Given the description of an element on the screen output the (x, y) to click on. 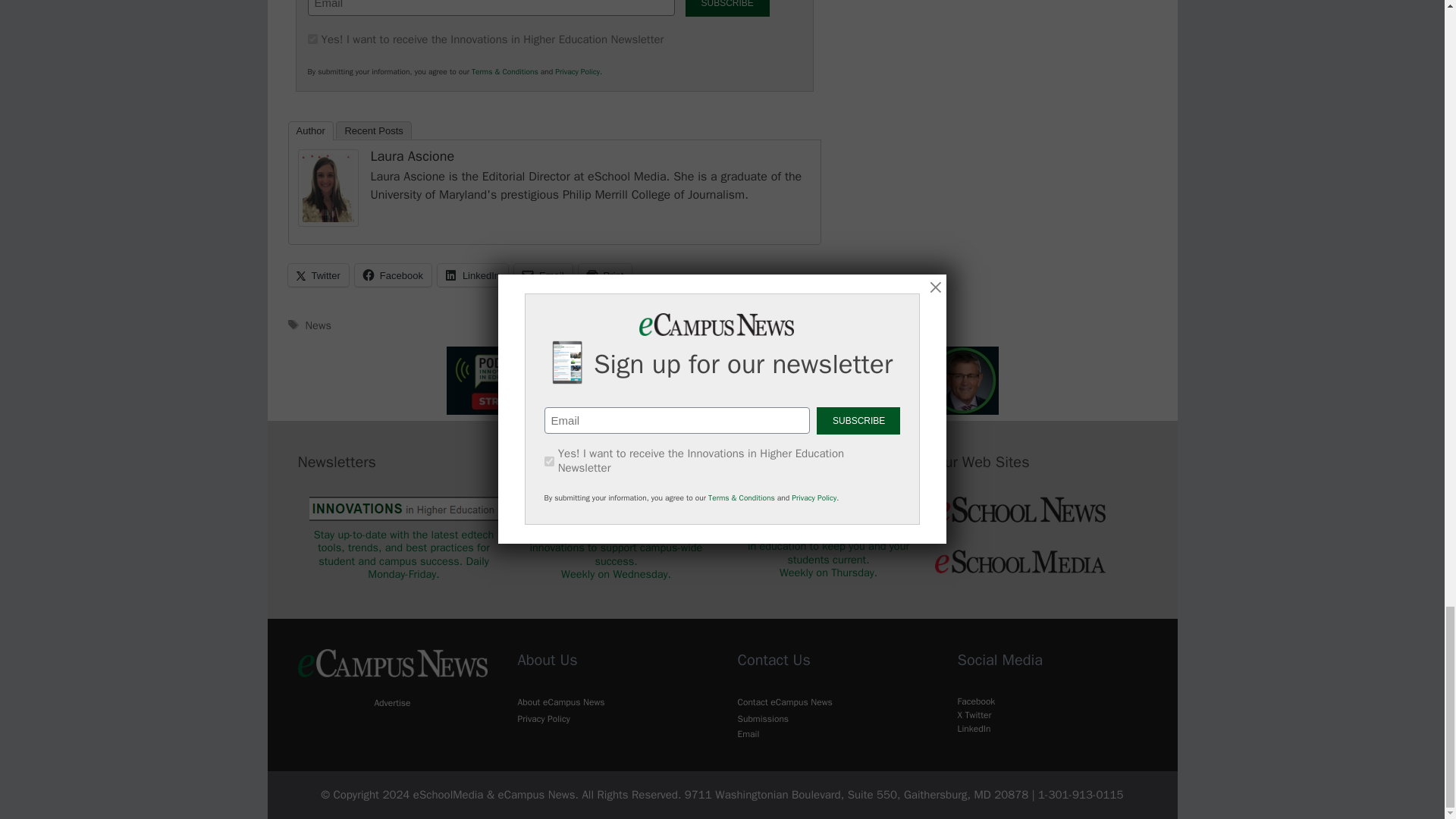
SUBSCRIBE (727, 8)
200 (312, 39)
